Given the description of an element on the screen output the (x, y) to click on. 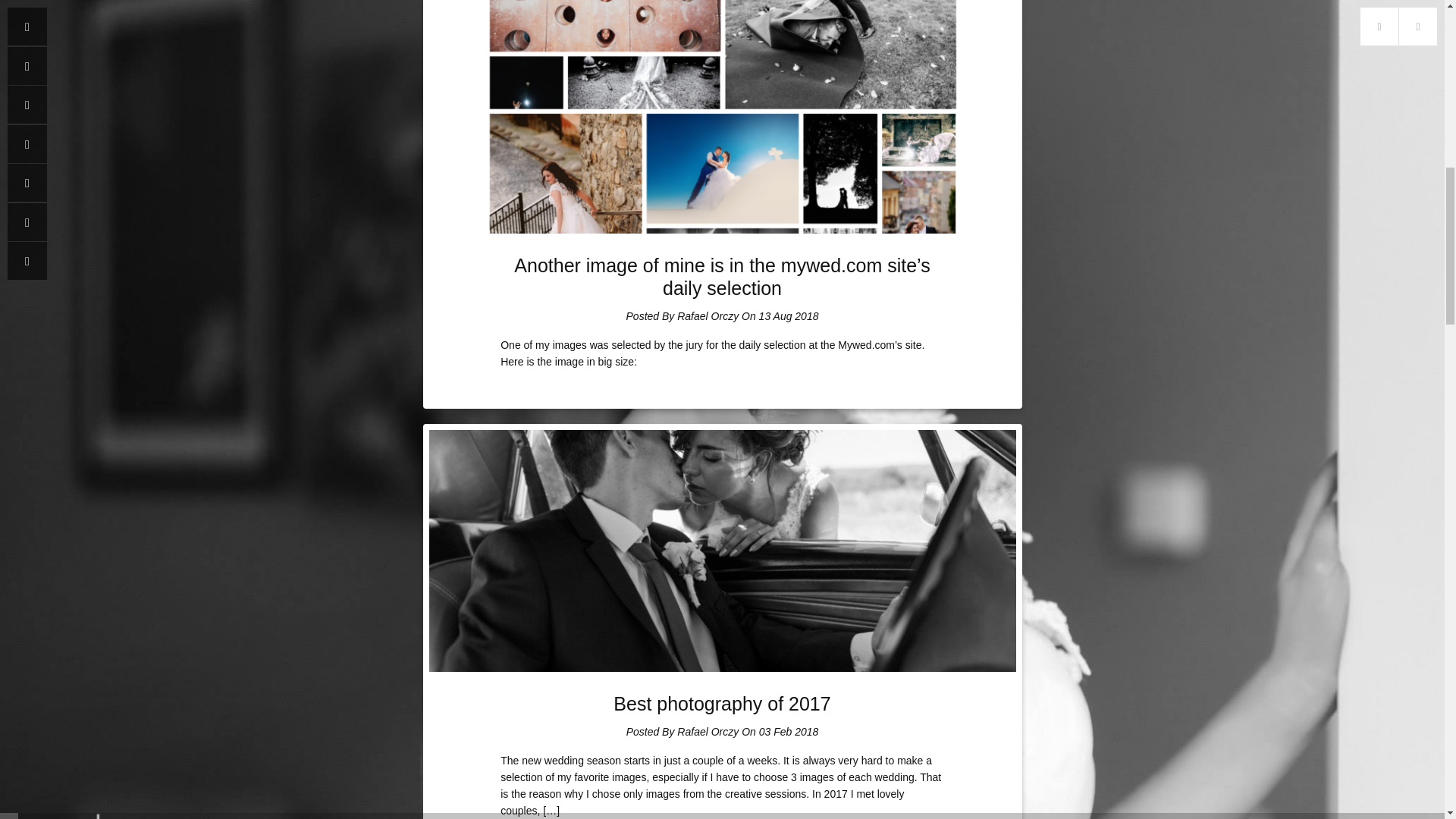
Posts by Rafael Orczy (707, 316)
Best photography of 2017 (720, 703)
Rafael Orczy (707, 731)
Posts by Rafael Orczy (707, 731)
Rafael Orczy (707, 316)
